Given the description of an element on the screen output the (x, y) to click on. 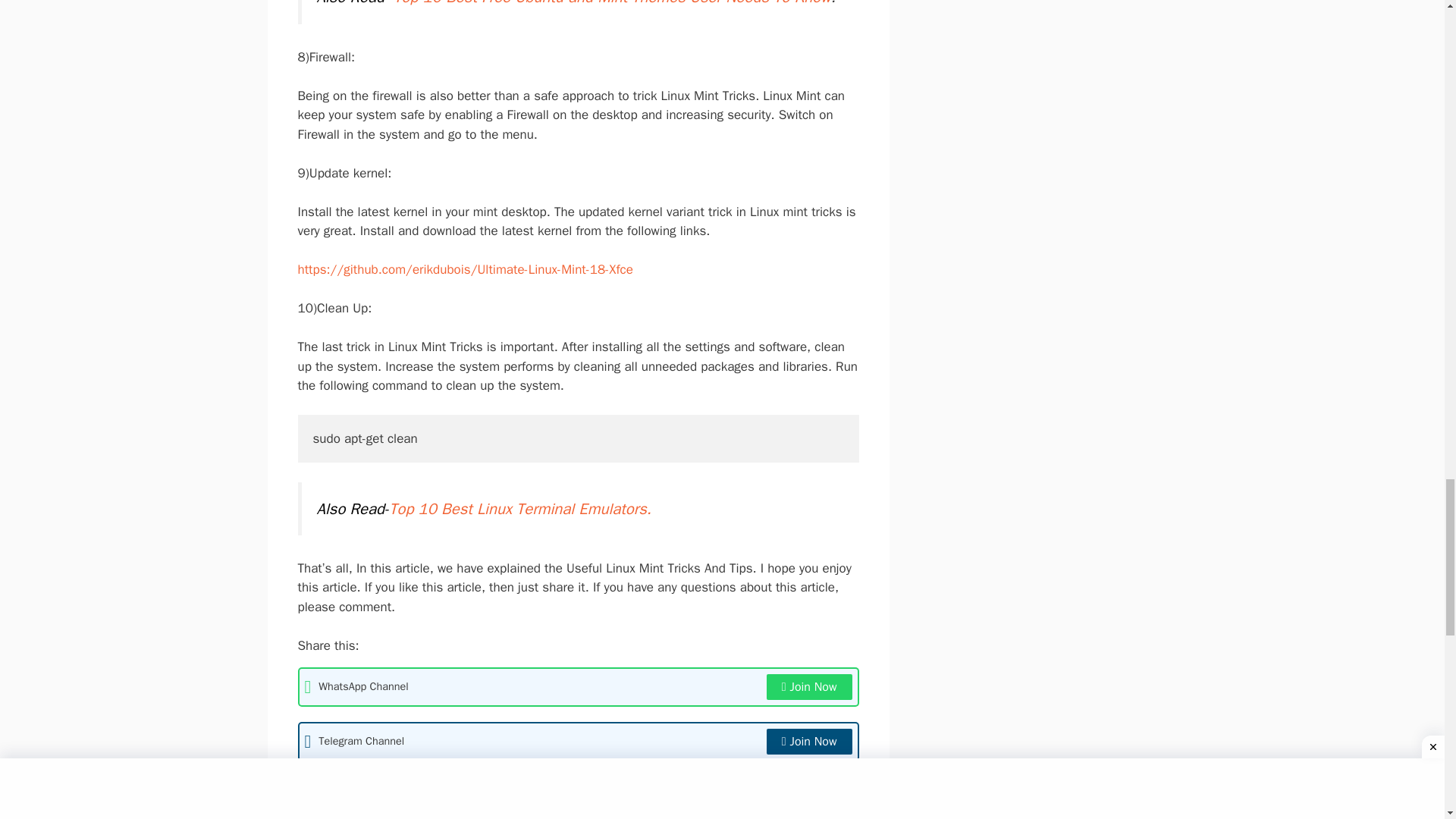
Top 10 Best Linux Terminal Emulators. (519, 508)
Top 10 Best Free Ubuntu and Mint Themes User Needs To Know (611, 3)
